Given the description of an element on the screen output the (x, y) to click on. 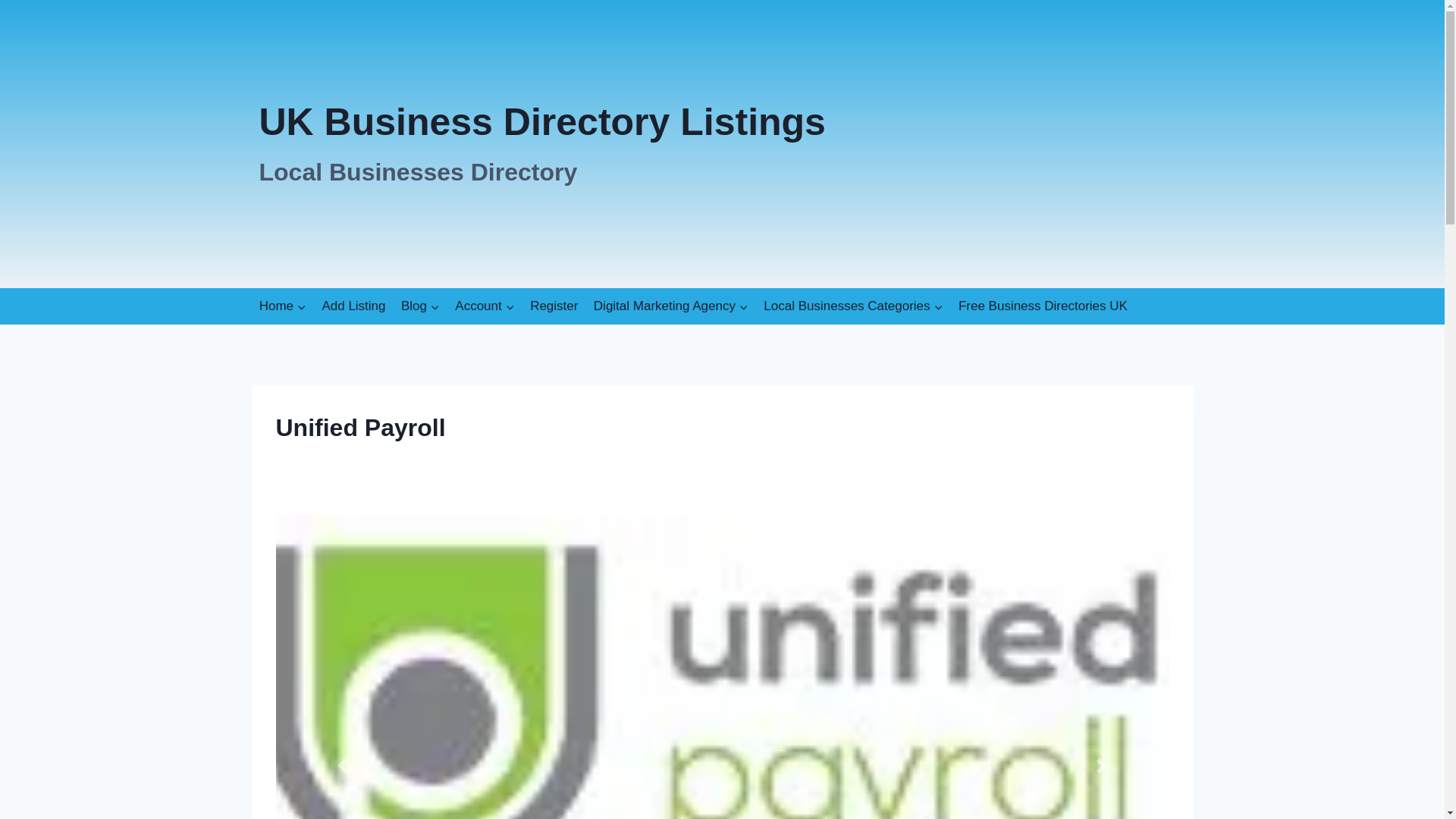
Home (282, 306)
Free Business Directories UK (1042, 306)
Digital Marketing Agency (670, 306)
Add Listing (353, 306)
Local Businesses Categories (852, 306)
Account (542, 144)
Blog (484, 306)
Register (419, 306)
